Given the description of an element on the screen output the (x, y) to click on. 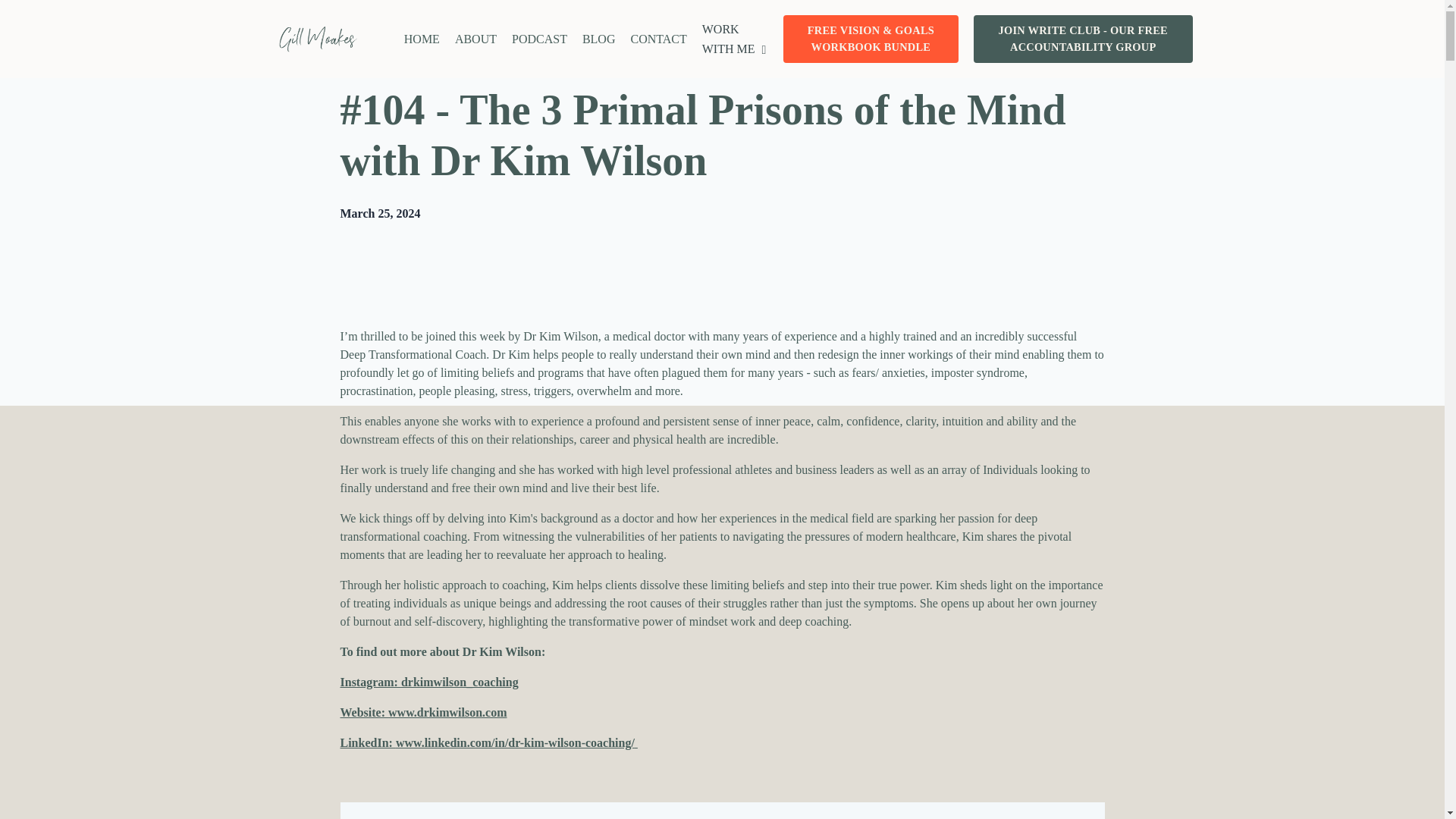
ABOUT (475, 39)
www.drkimwilson.com (447, 712)
JOIN WRITE CLUB - OUR FREE ACCOUNTABILITY GROUP (1083, 39)
BLOG (598, 39)
PODCAST (539, 39)
HOME (421, 39)
WORK WITH ME (734, 38)
CONTACT (657, 39)
All Episodes (381, 51)
